Given the description of an element on the screen output the (x, y) to click on. 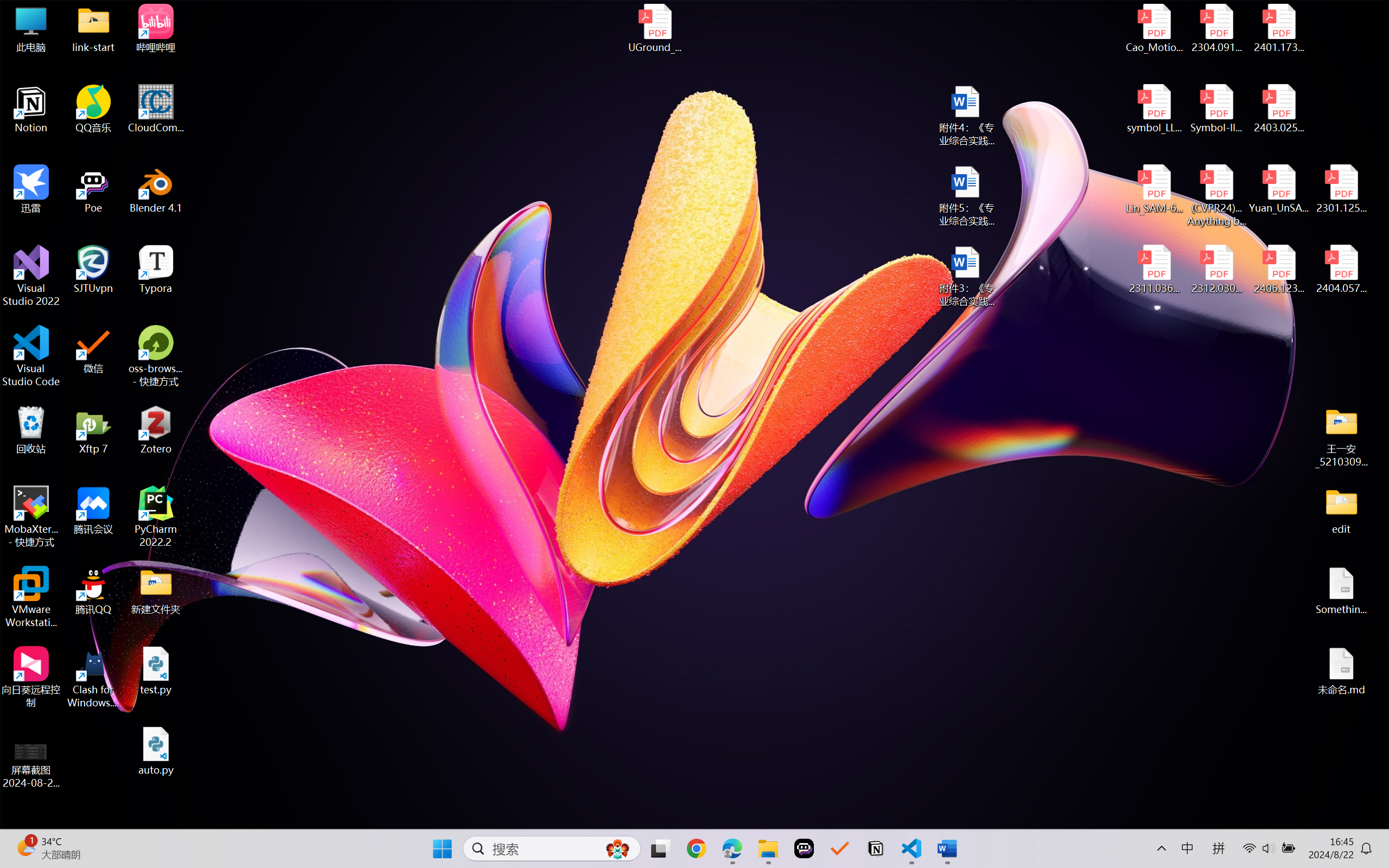
2403.02502v1.pdf (1278, 109)
edit (1340, 510)
Something.md (1340, 591)
Google Chrome (696, 848)
